Given the description of an element on the screen output the (x, y) to click on. 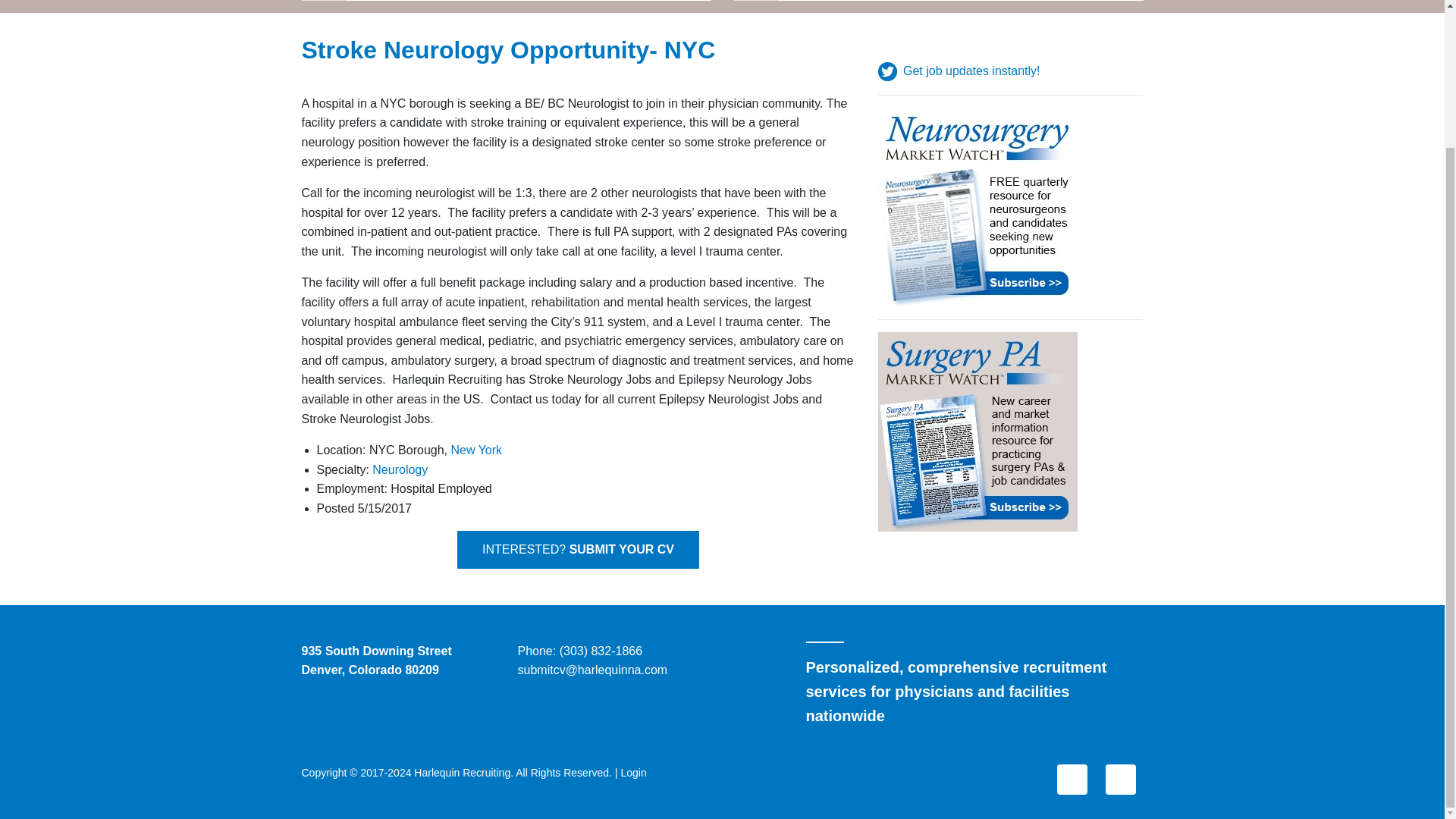
Login (633, 772)
New York (475, 449)
Neurology (400, 469)
SEARCH (755, 0)
Get job updates instantly! (959, 70)
INTERESTED? SUBMIT YOUR CV (577, 549)
SEARCH (324, 0)
